Given the description of an element on the screen output the (x, y) to click on. 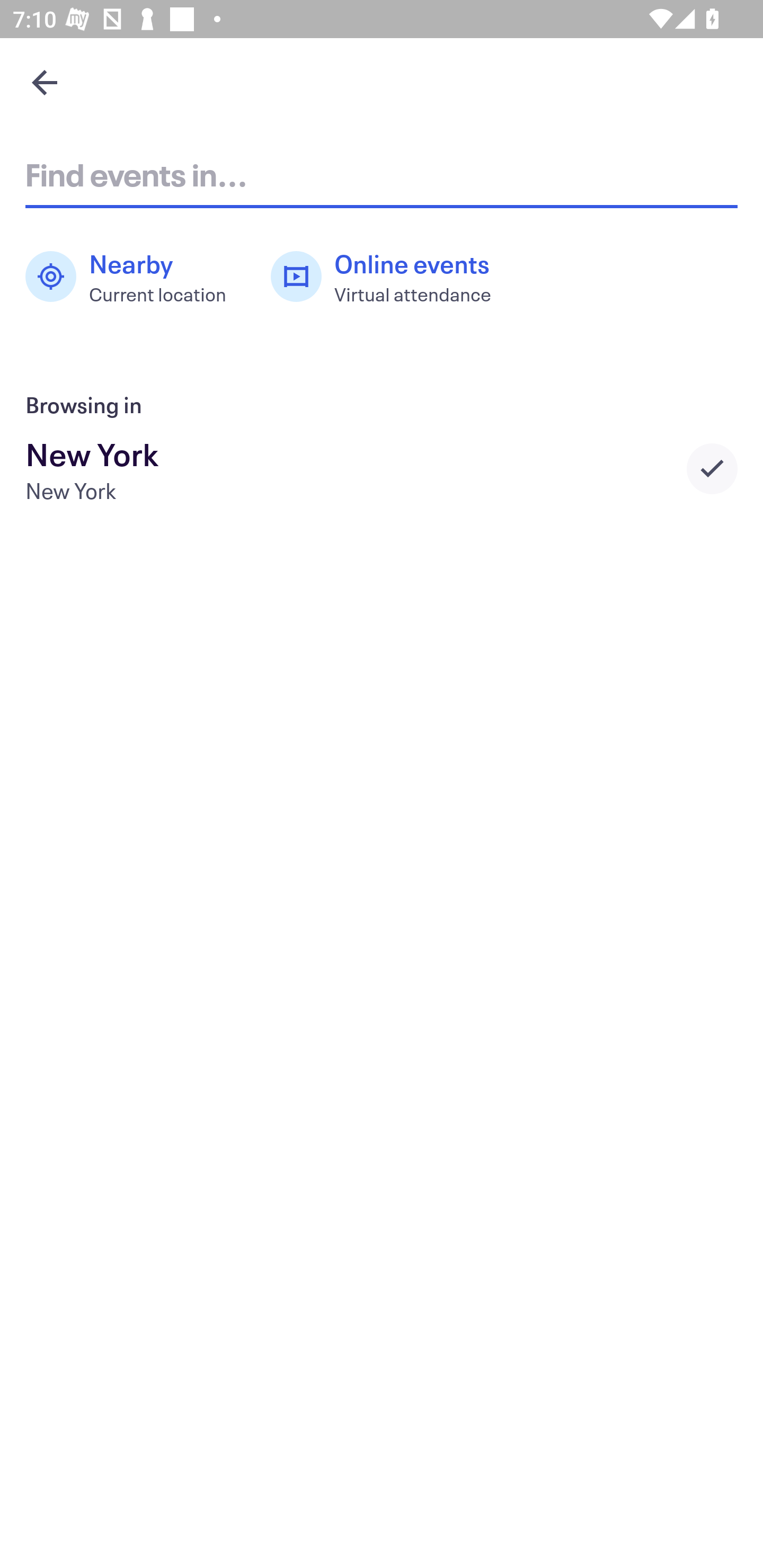
Navigate up (44, 82)
Find events in... (381, 173)
Nearby Current location (135, 276)
Online events Virtual attendance (390, 276)
New York New York Selected city (381, 468)
